Given the description of an element on the screen output the (x, y) to click on. 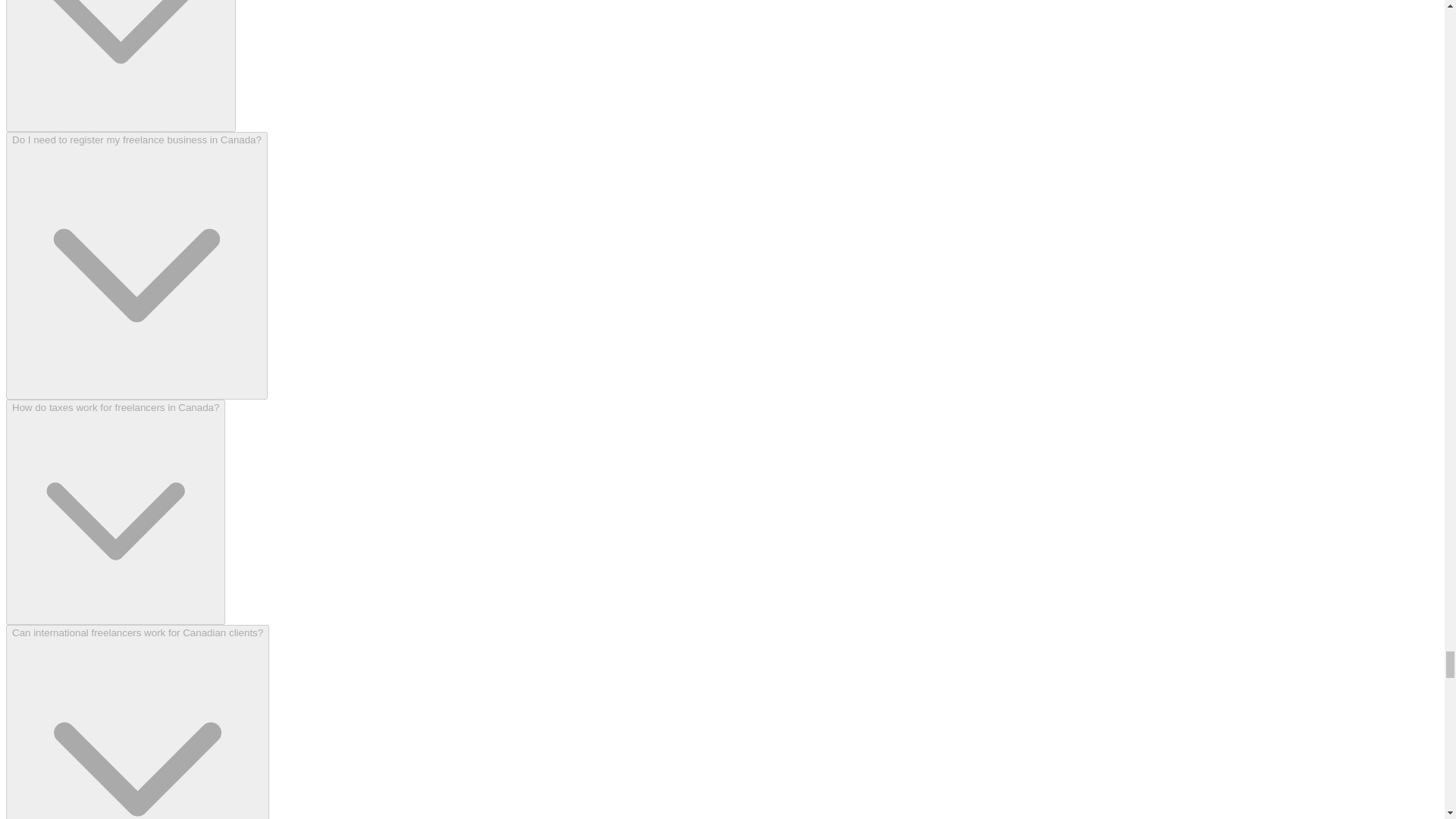
How do taxes work for freelancers in Canada? (115, 511)
Why is Canada an ideal location for freelancers? (120, 65)
Can international freelancers work for Canadian clients? (137, 721)
Do I need to register my freelance business in Canada? (136, 265)
